Given the description of an element on the screen output the (x, y) to click on. 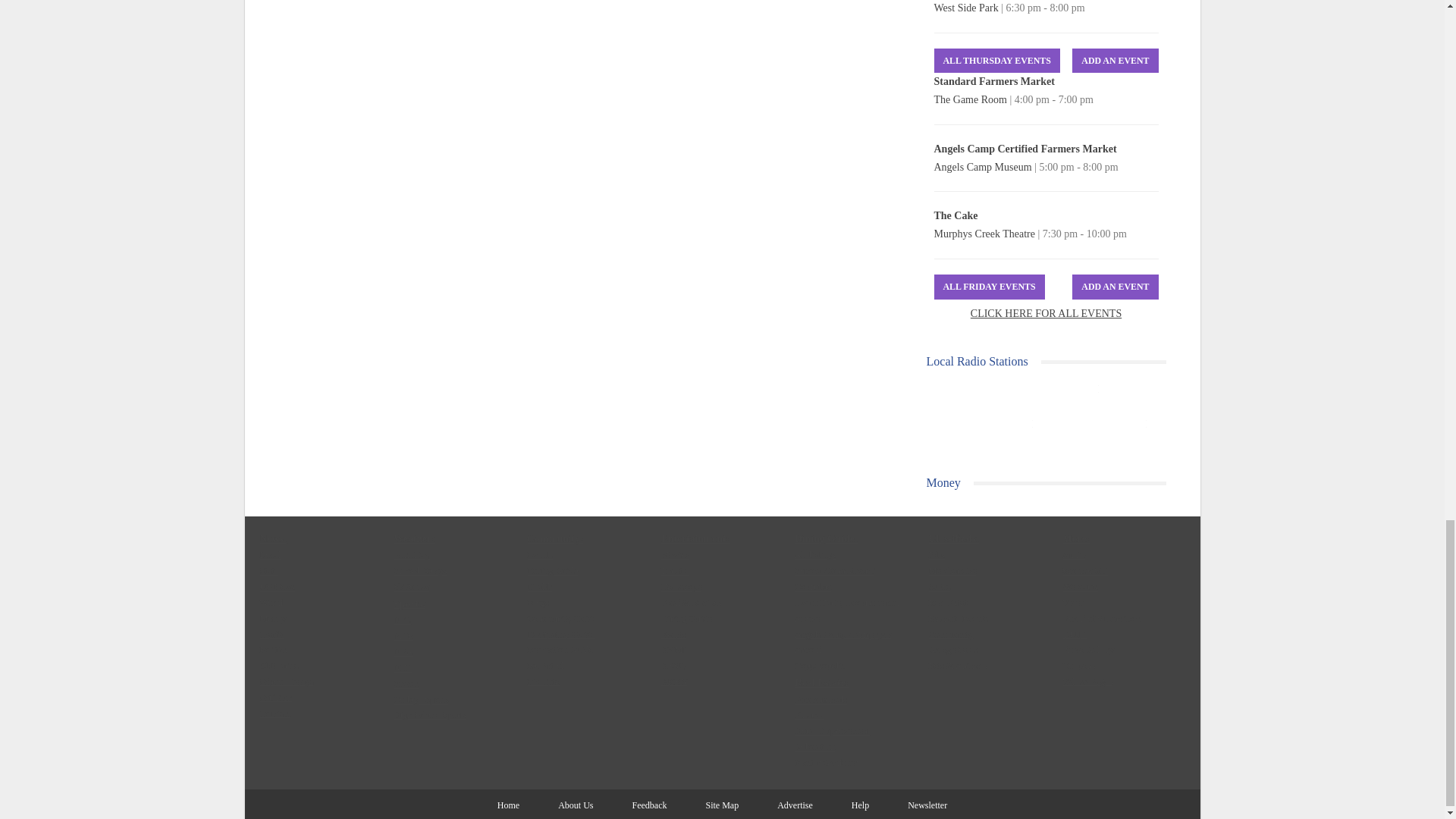
Add An Event (1114, 60)
All Friday Events (989, 286)
Add An Event (1114, 286)
All Thursday Events (996, 60)
